Given the description of an element on the screen output the (x, y) to click on. 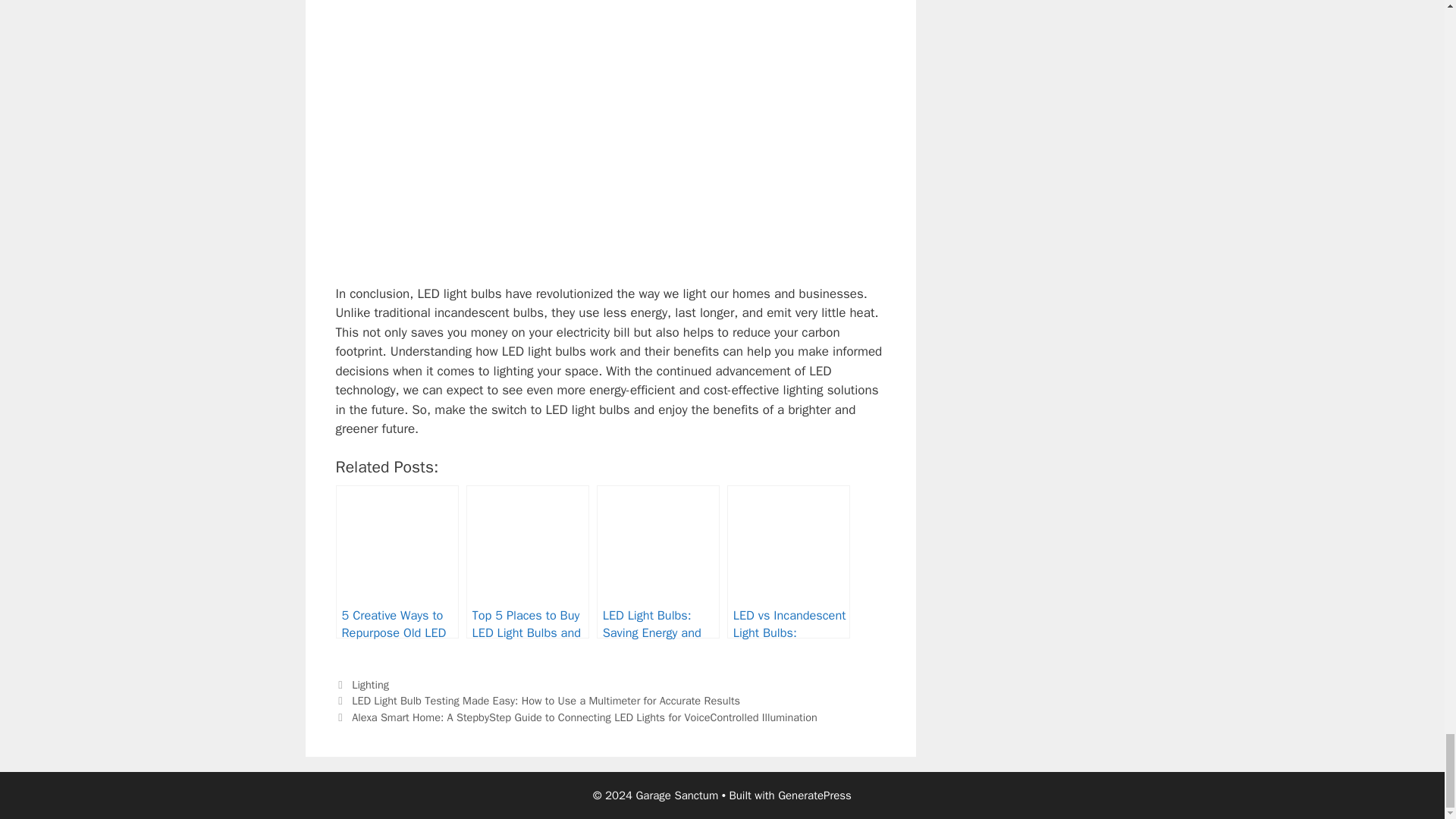
GeneratePress (814, 795)
Lighting (370, 684)
